Given the description of an element on the screen output the (x, y) to click on. 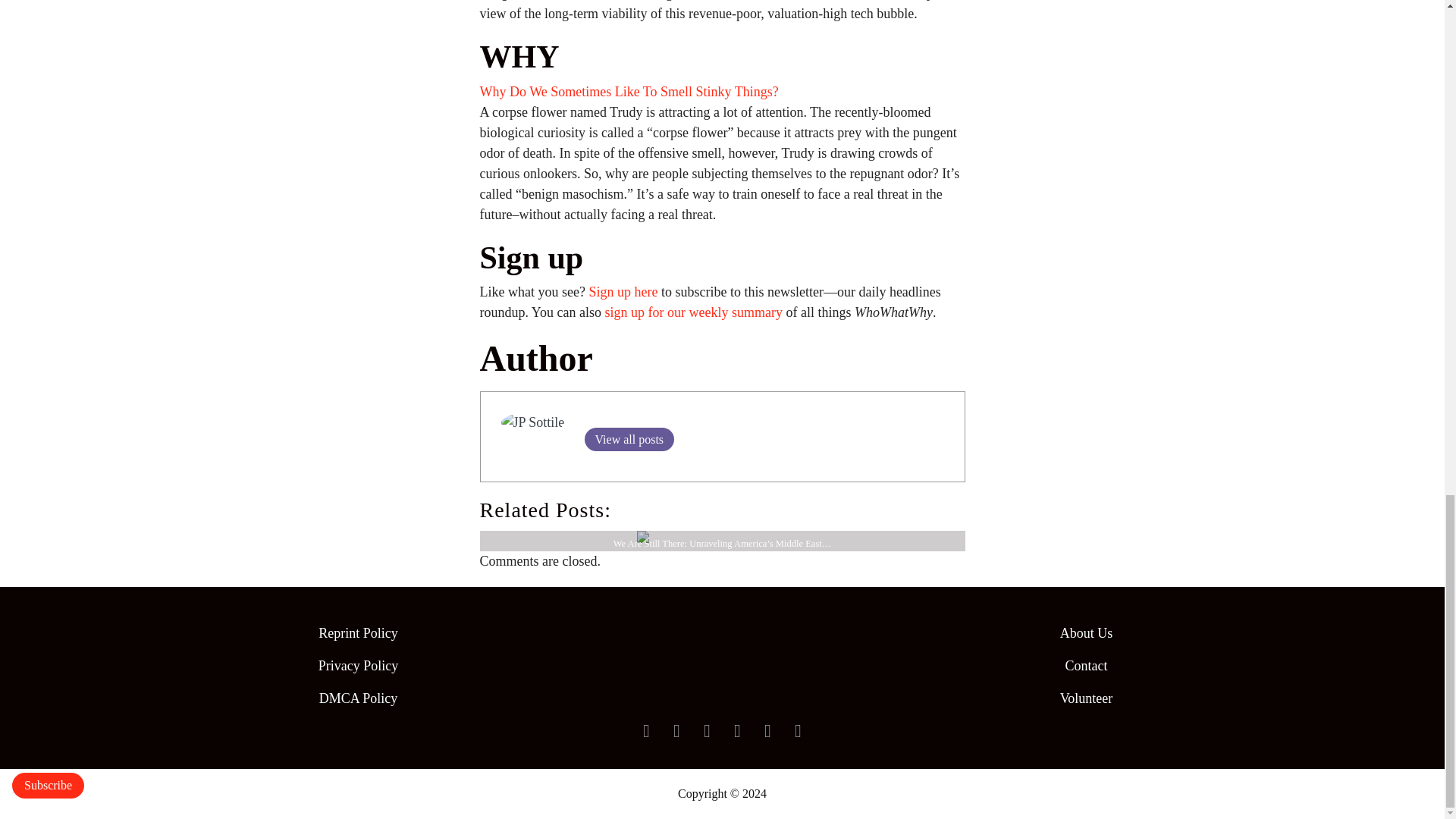
View all posts (628, 439)
